Given the description of an element on the screen output the (x, y) to click on. 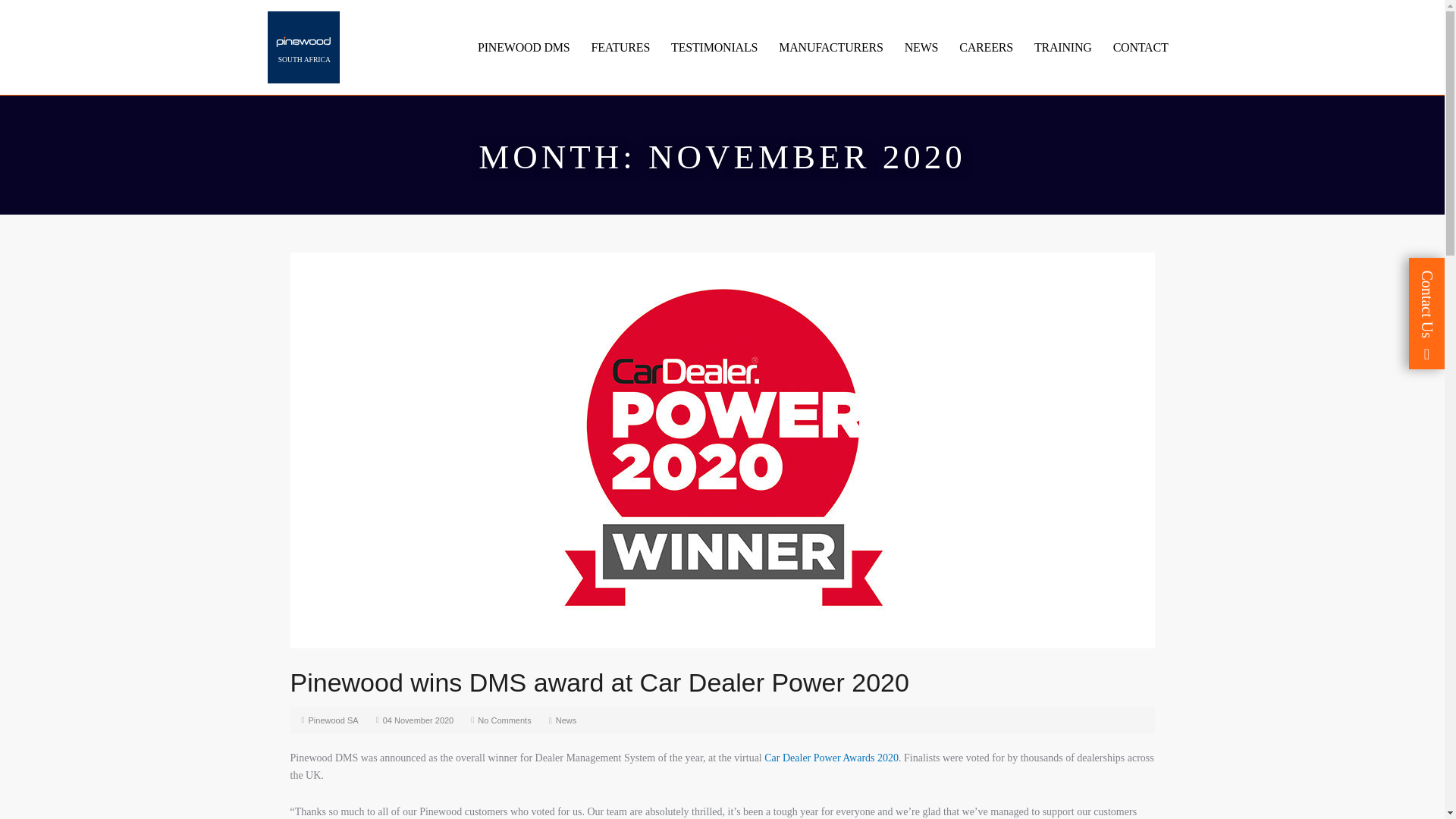
CAREERS (986, 47)
FEATURES (620, 47)
PINEWOOD DMS (523, 47)
TRAINING (1062, 47)
Posts by Pinewood SA (333, 719)
CONTACT (1141, 47)
TESTIMONIALS (714, 47)
MANUFACTURERS (830, 47)
NEWS (921, 47)
